Given the description of an element on the screen output the (x, y) to click on. 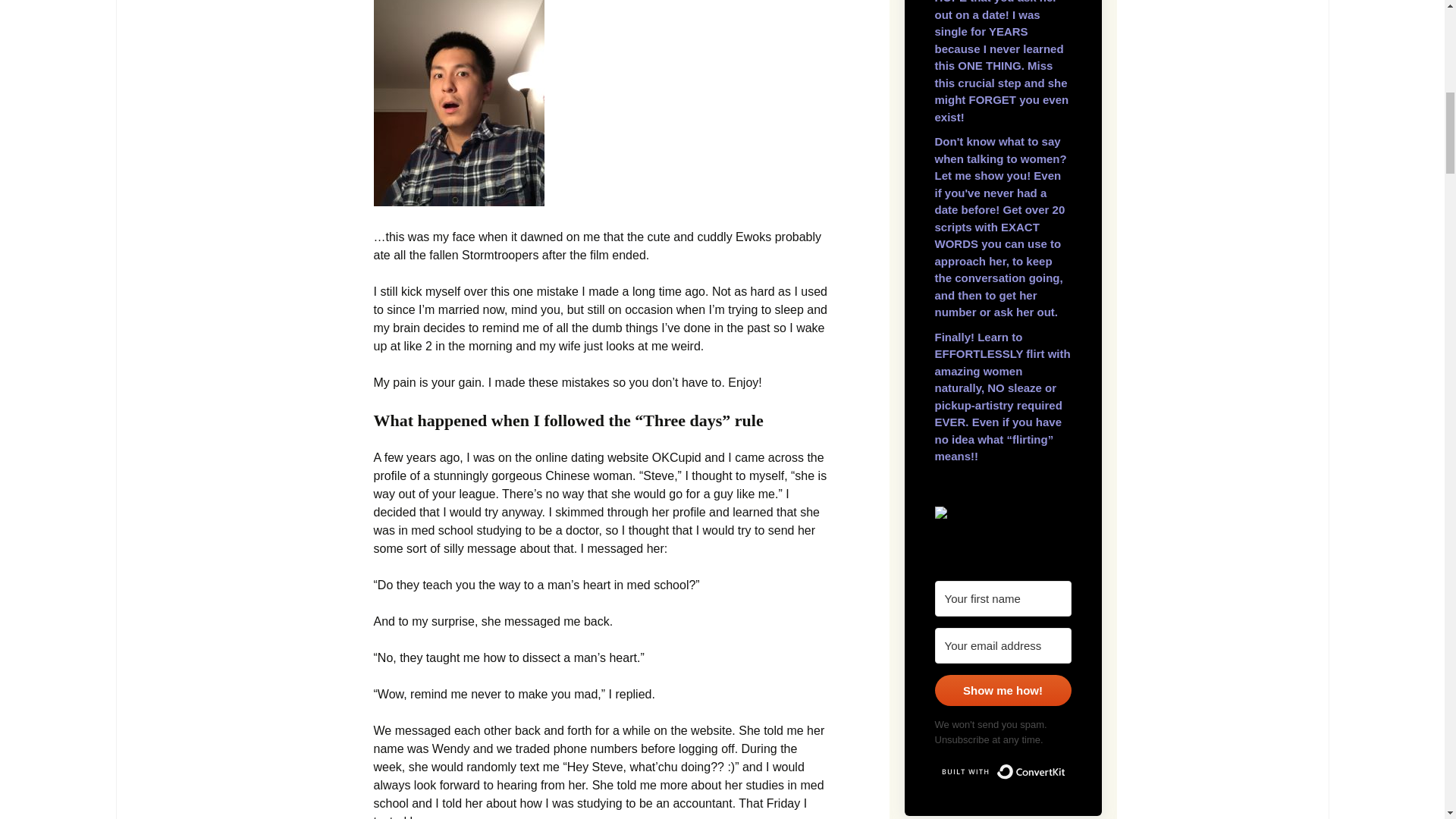
Show me how! (1002, 689)
Built with ConvertKit (1002, 771)
